Given the description of an element on the screen output the (x, y) to click on. 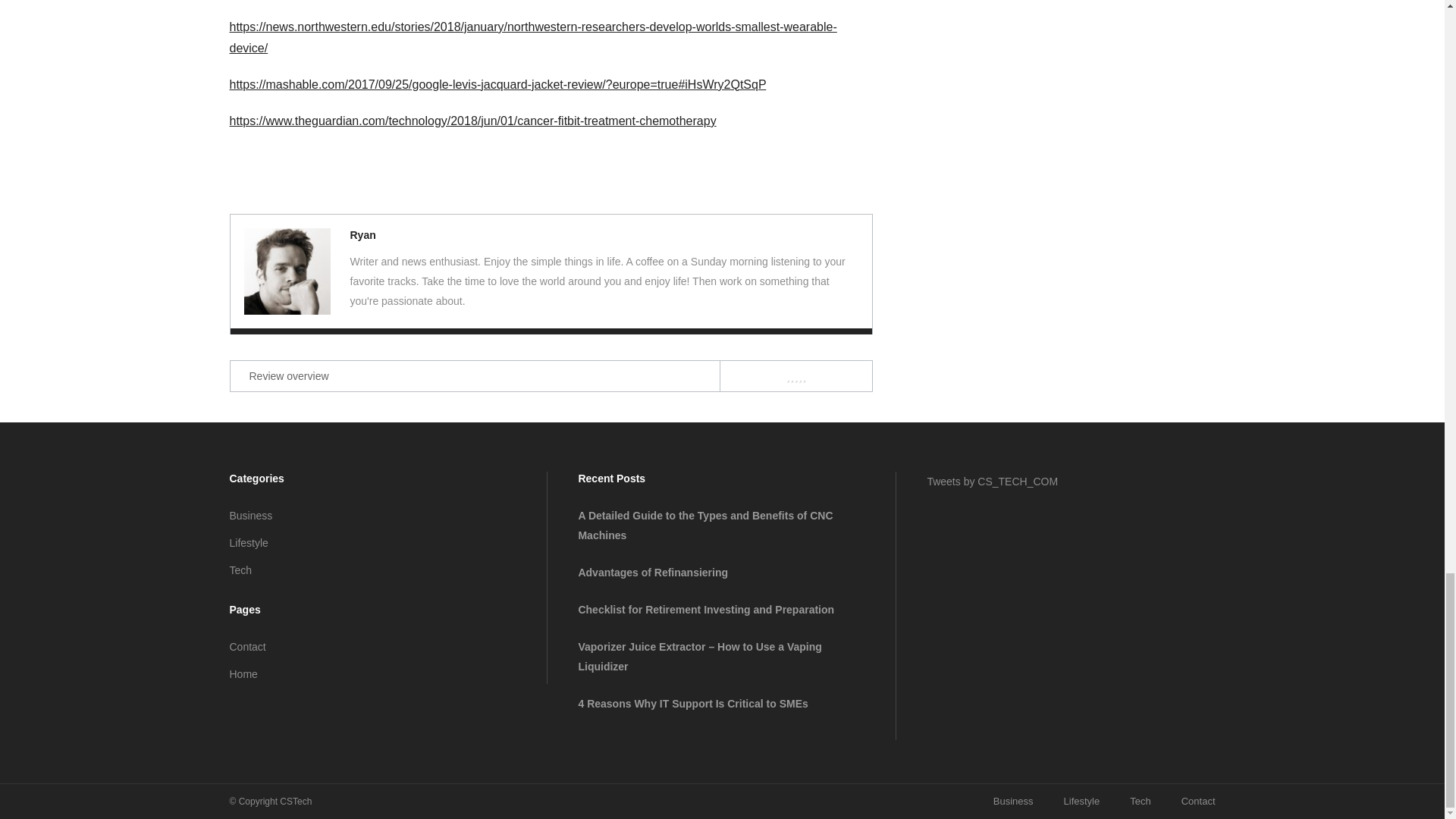
The research and development of wearable tech (287, 271)
The research and development of wearable tech (362, 234)
Ryan (362, 234)
